Given the description of an element on the screen output the (x, y) to click on. 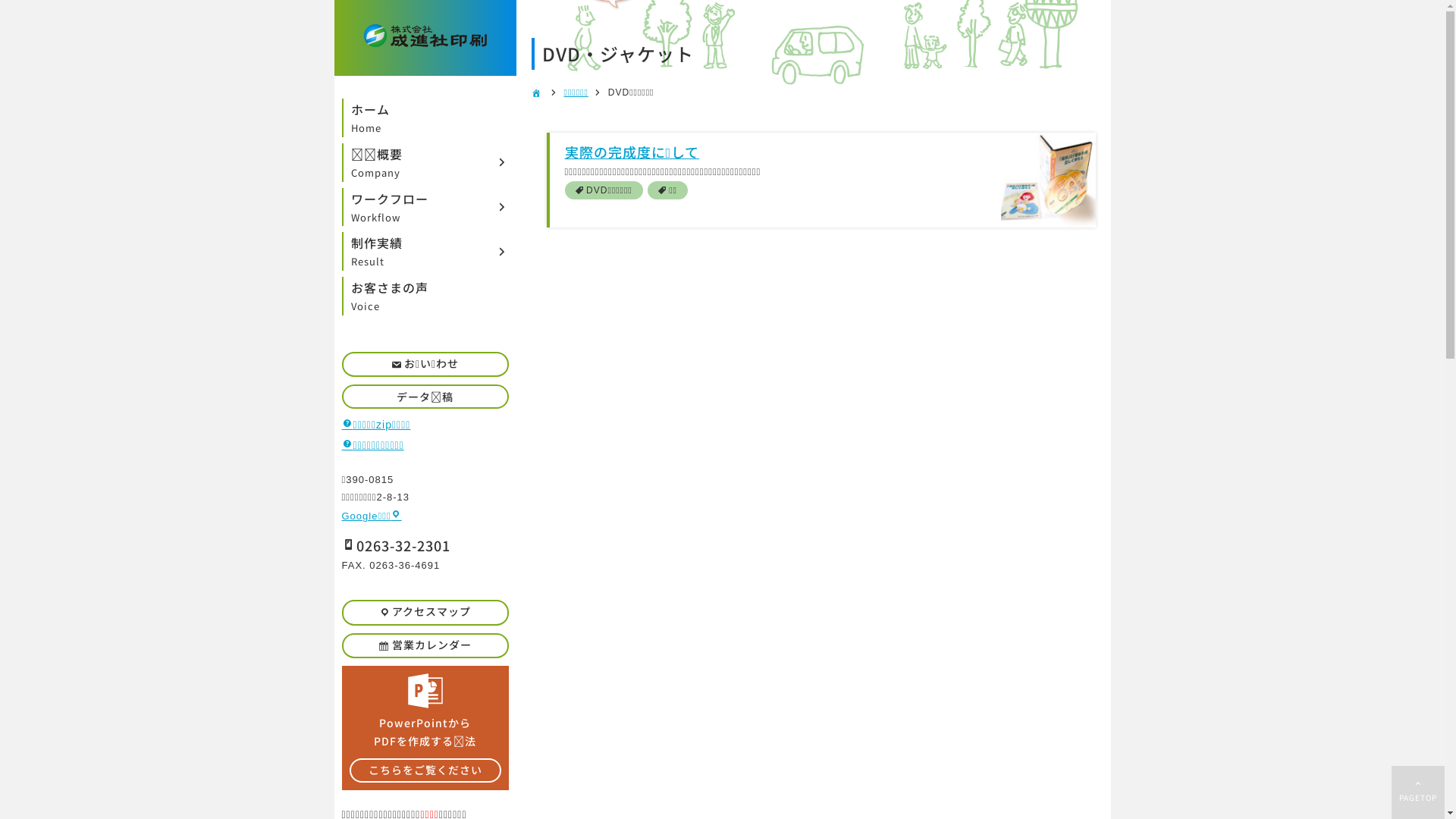
0263-32-2301 Element type: text (395, 545)
